Given the description of an element on the screen output the (x, y) to click on. 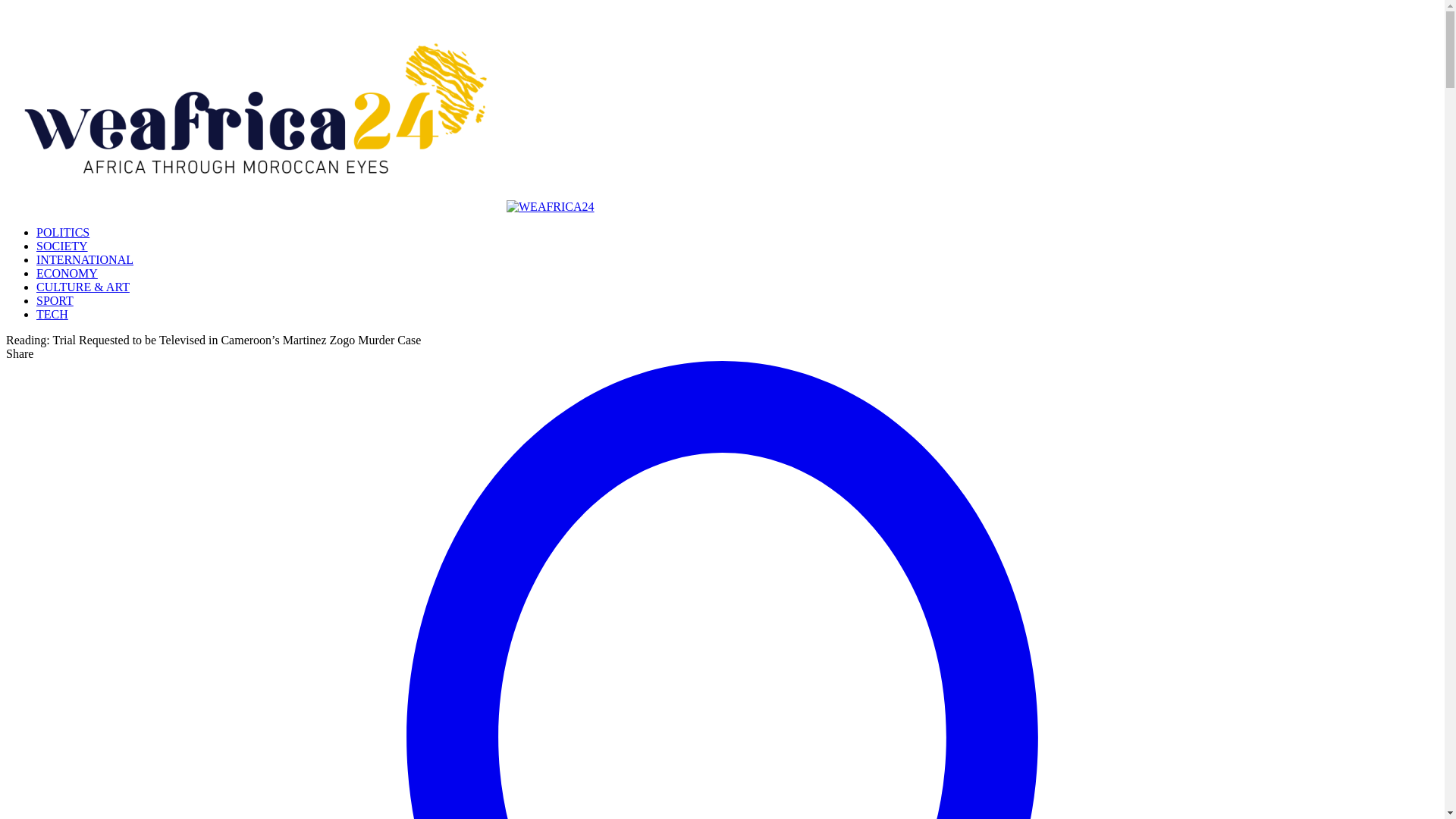
SOCIETY (61, 245)
INTERNATIONAL (84, 259)
POLITICS (62, 232)
SPORT (55, 300)
ECONOMY (66, 273)
TECH (52, 314)
WEAFRICA24 (299, 205)
